Given the description of an element on the screen output the (x, y) to click on. 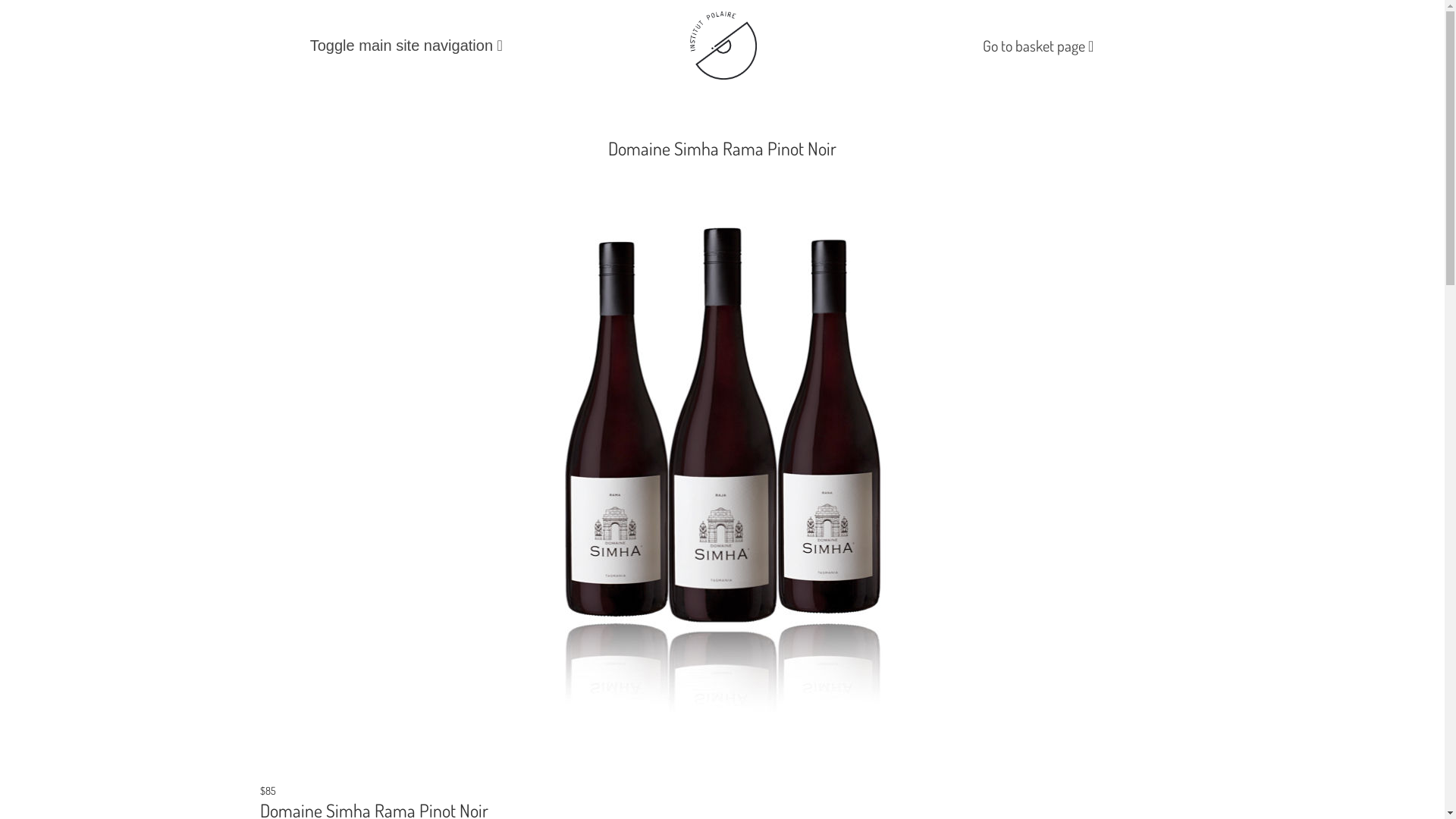
Go to basket page Element type: text (1037, 44)
Toggle main site navigation Element type: text (406, 45)
